Given the description of an element on the screen output the (x, y) to click on. 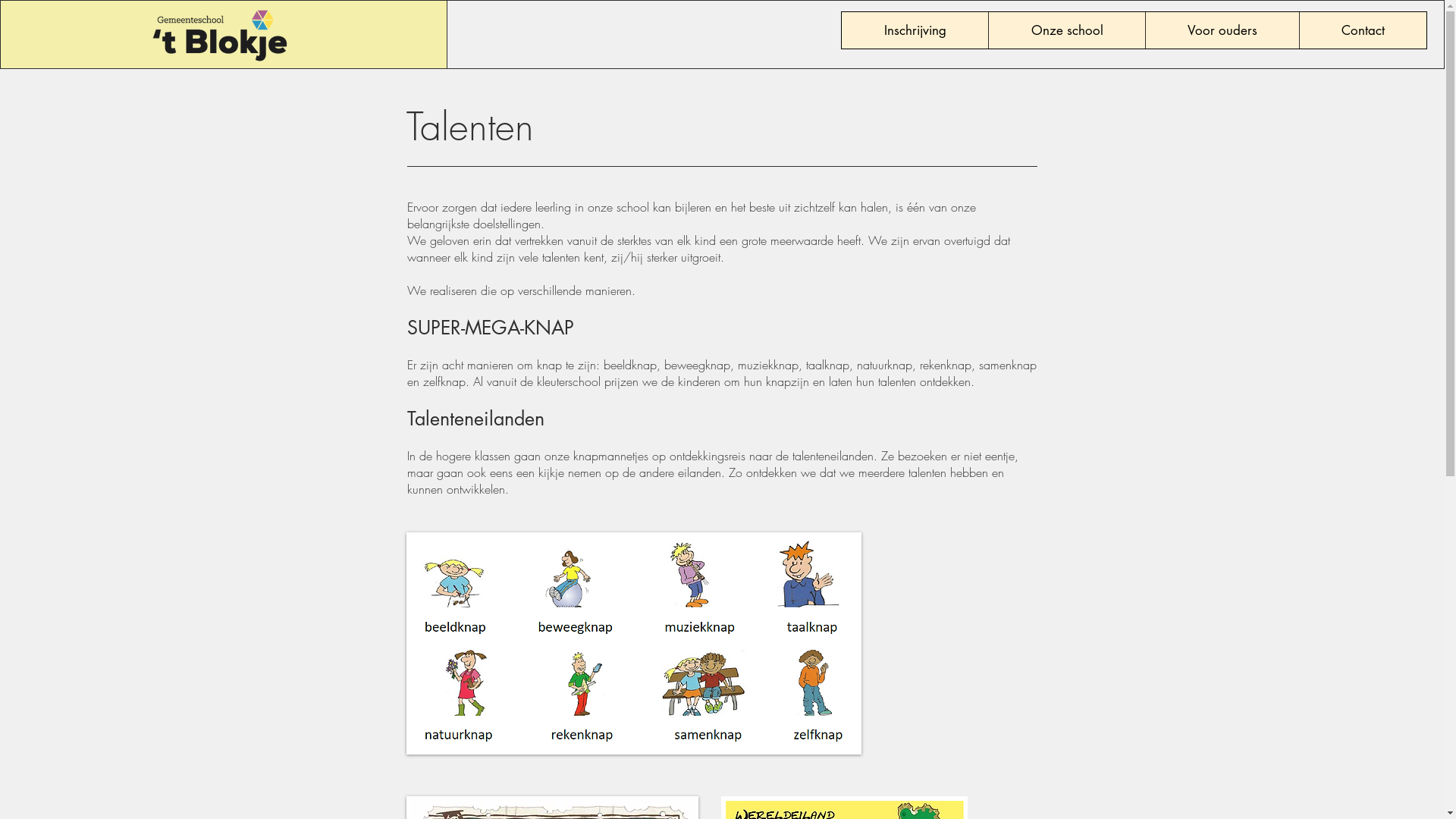
Inschrijving Element type: text (914, 30)
Contact Element type: text (1362, 30)
